Given the description of an element on the screen output the (x, y) to click on. 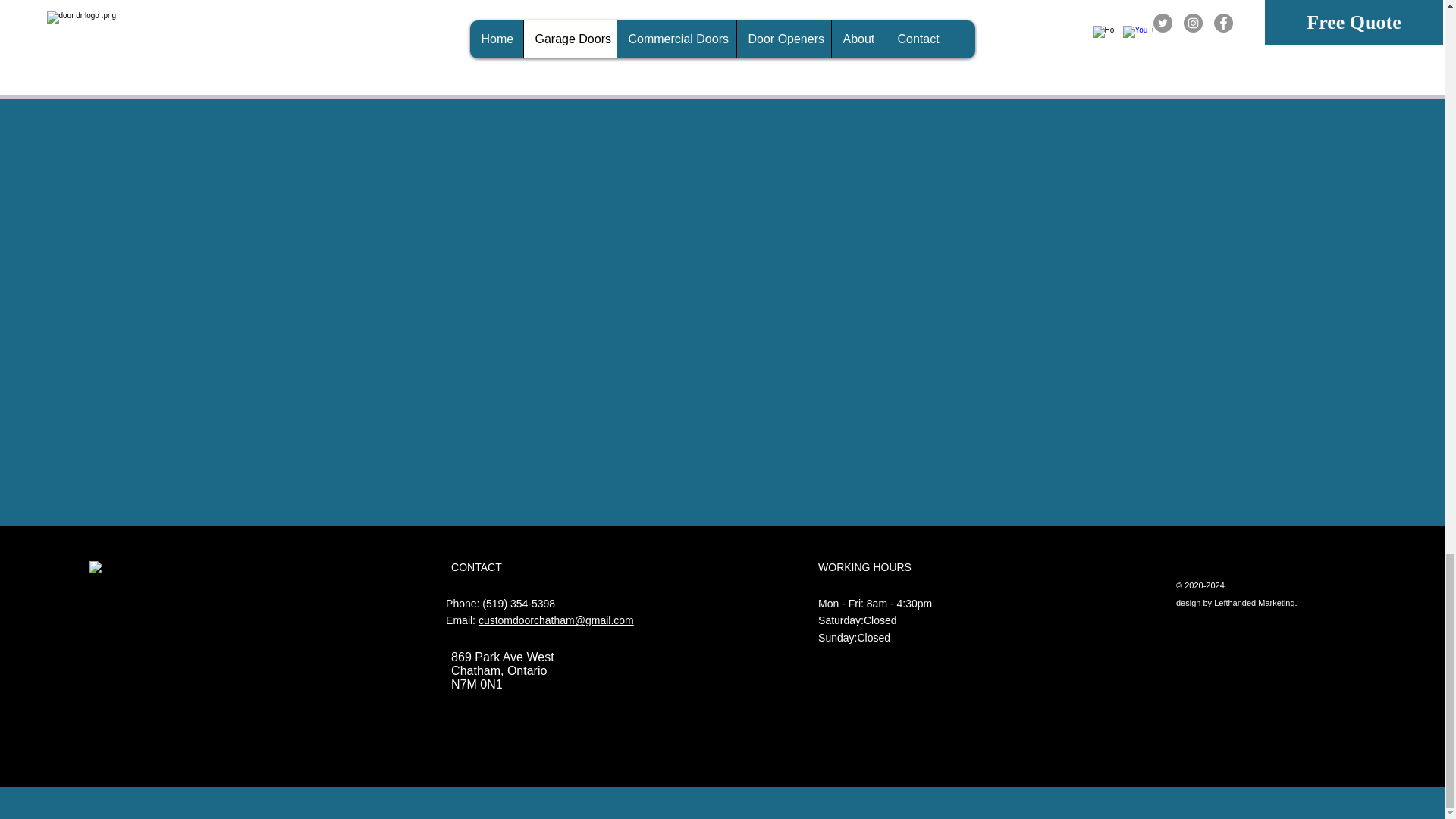
Lefthanded Marketing.  (1254, 602)
Refresh this page (813, 58)
